Given the description of an element on the screen output the (x, y) to click on. 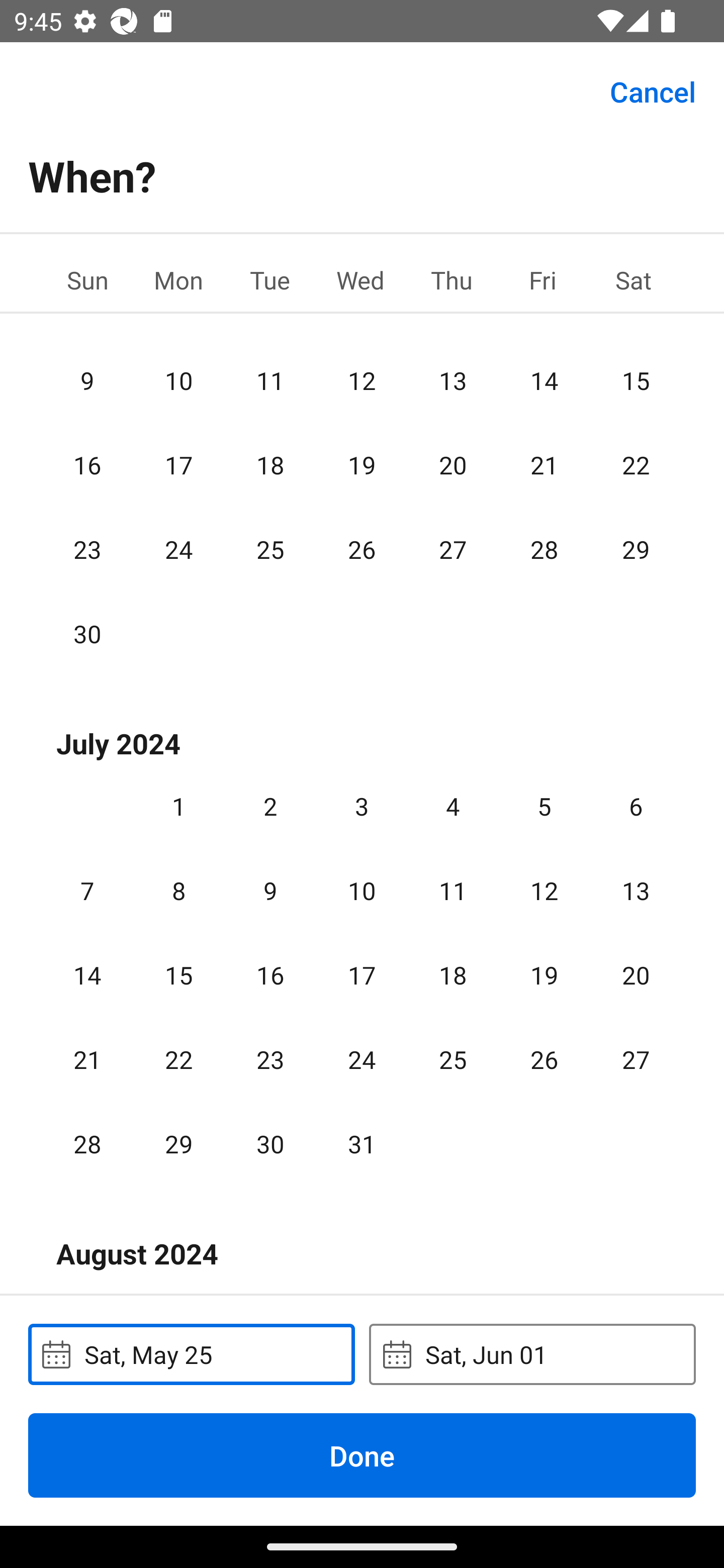
Cancel (652, 90)
Sat, May 25 (191, 1353)
Sat, Jun 01 (532, 1353)
Done (361, 1454)
